Given the description of an element on the screen output the (x, y) to click on. 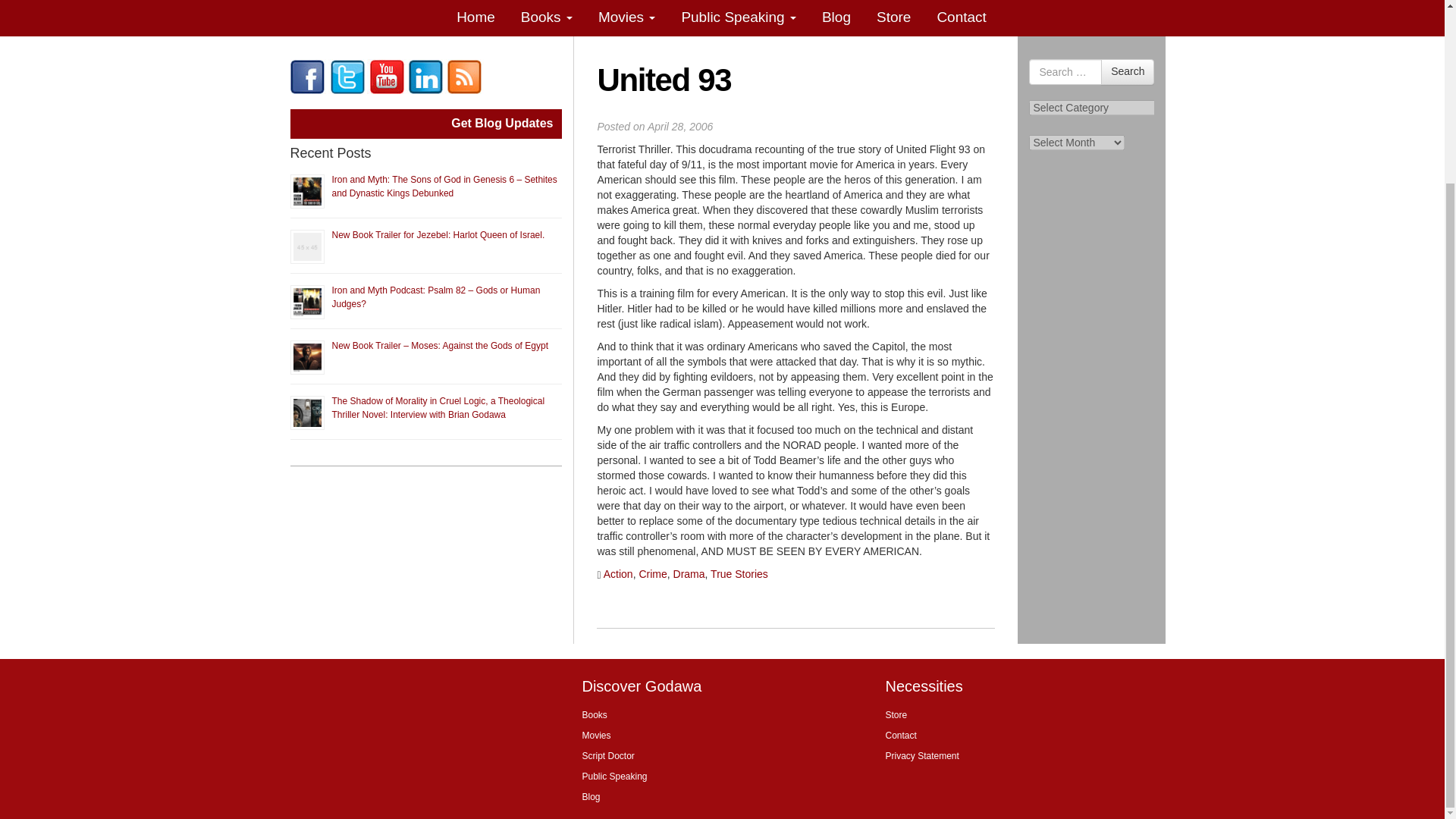
Search for: (1065, 71)
Hollywood Worldviews (306, 76)
Public Speaking (738, 18)
Home (476, 18)
Contact (961, 18)
8:57 am (680, 126)
Blog (836, 18)
Books (547, 18)
Store (894, 18)
Movies (627, 18)
